Given the description of an element on the screen output the (x, y) to click on. 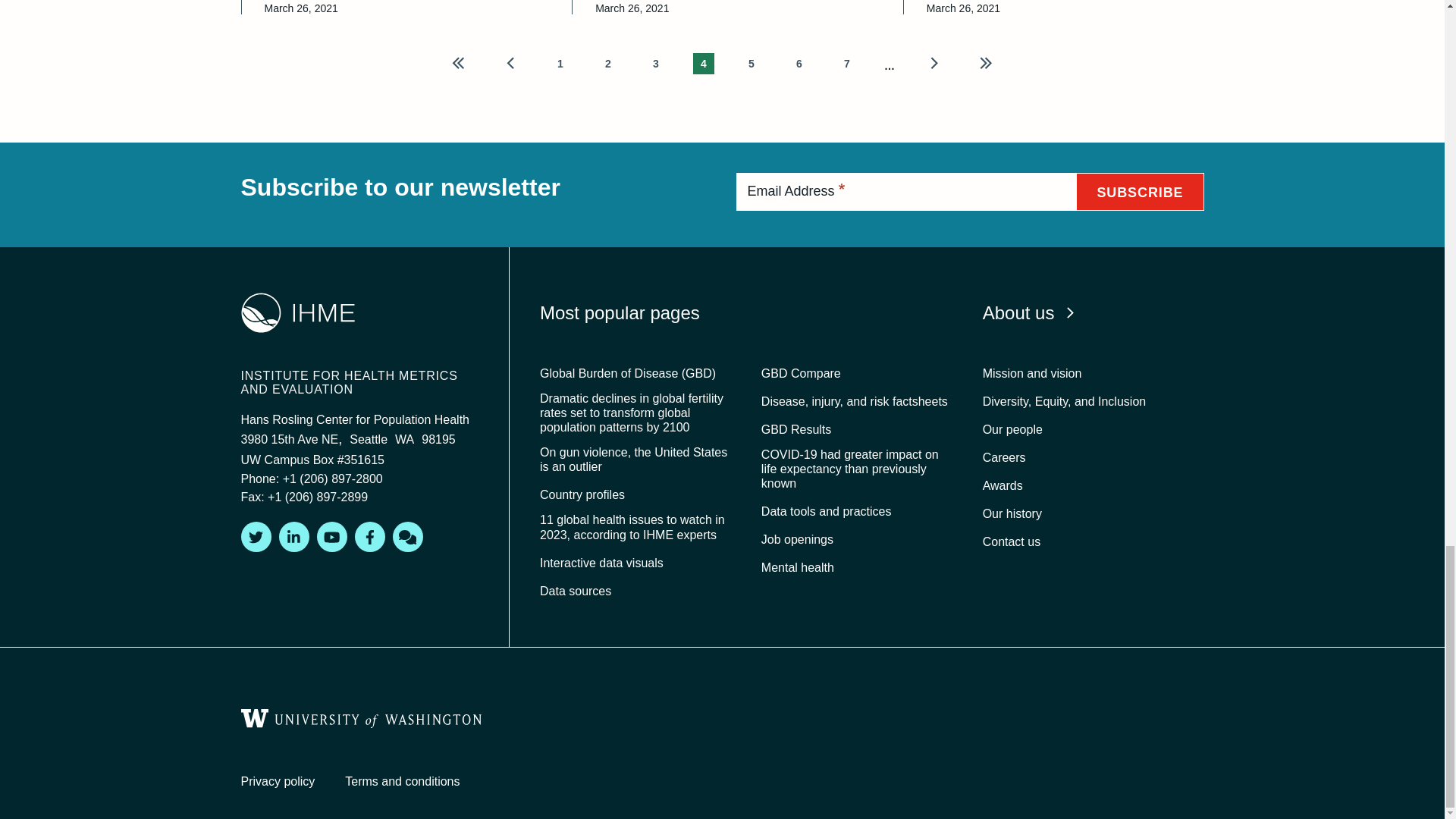
IHME logo white (298, 312)
Go to first page (457, 62)
Go to last page (986, 62)
Go to page 6 (799, 62)
Go to previous page (510, 62)
Subscribe (1139, 191)
Go to page 3 (655, 62)
Go to page 1 (560, 62)
Go to page 7 (846, 62)
Go to next page (932, 62)
Go to page 5 (751, 62)
Go to page 2 (607, 62)
Current page (703, 62)
